Given the description of an element on the screen output the (x, y) to click on. 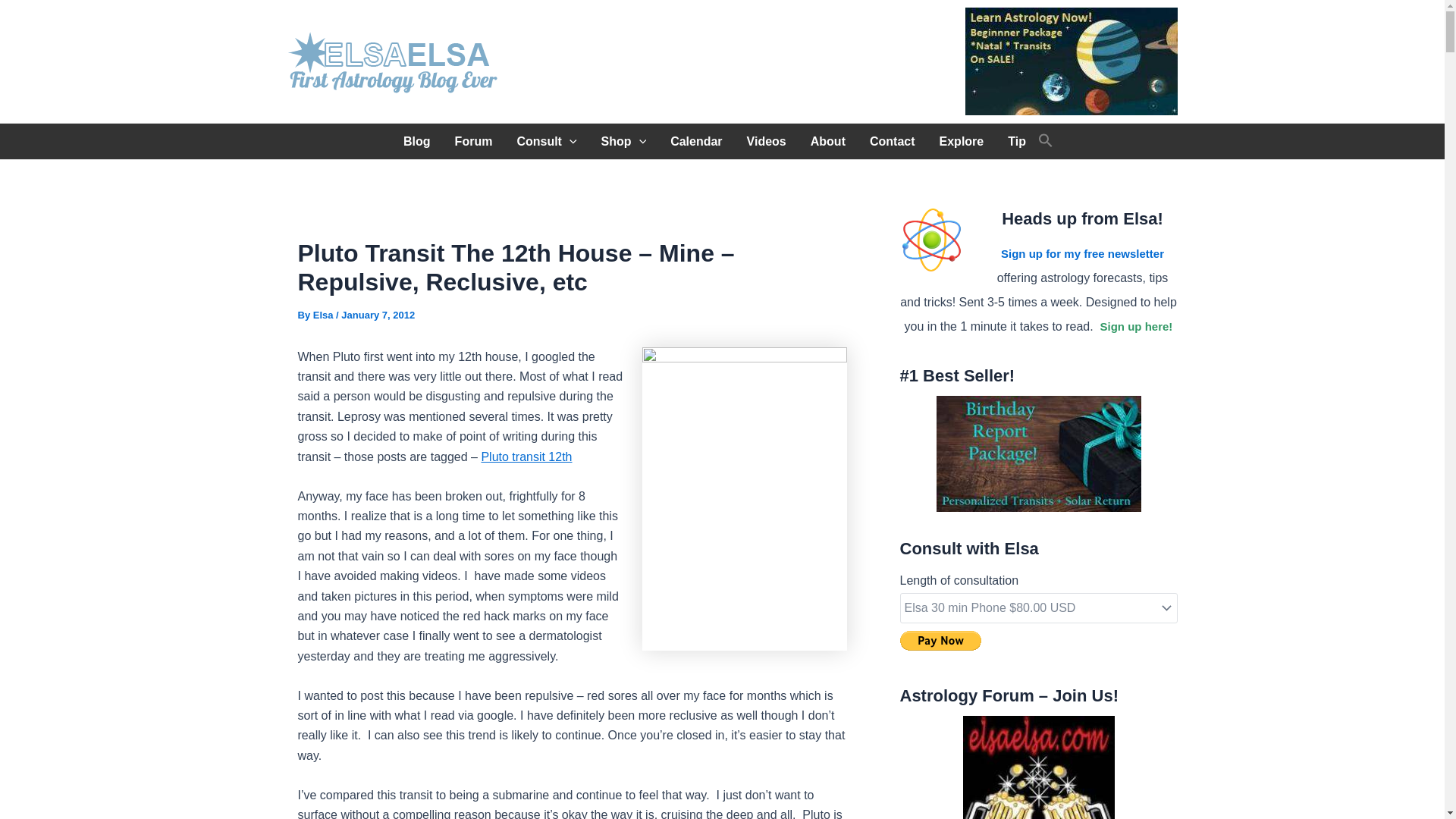
Blog (416, 140)
Shop (624, 140)
Tip (1016, 140)
Contact (892, 140)
Explore (961, 140)
Forum (473, 140)
Calendar (695, 140)
Videos (766, 140)
Consult (545, 140)
View all posts by Elsa (324, 315)
